Given the description of an element on the screen output the (x, y) to click on. 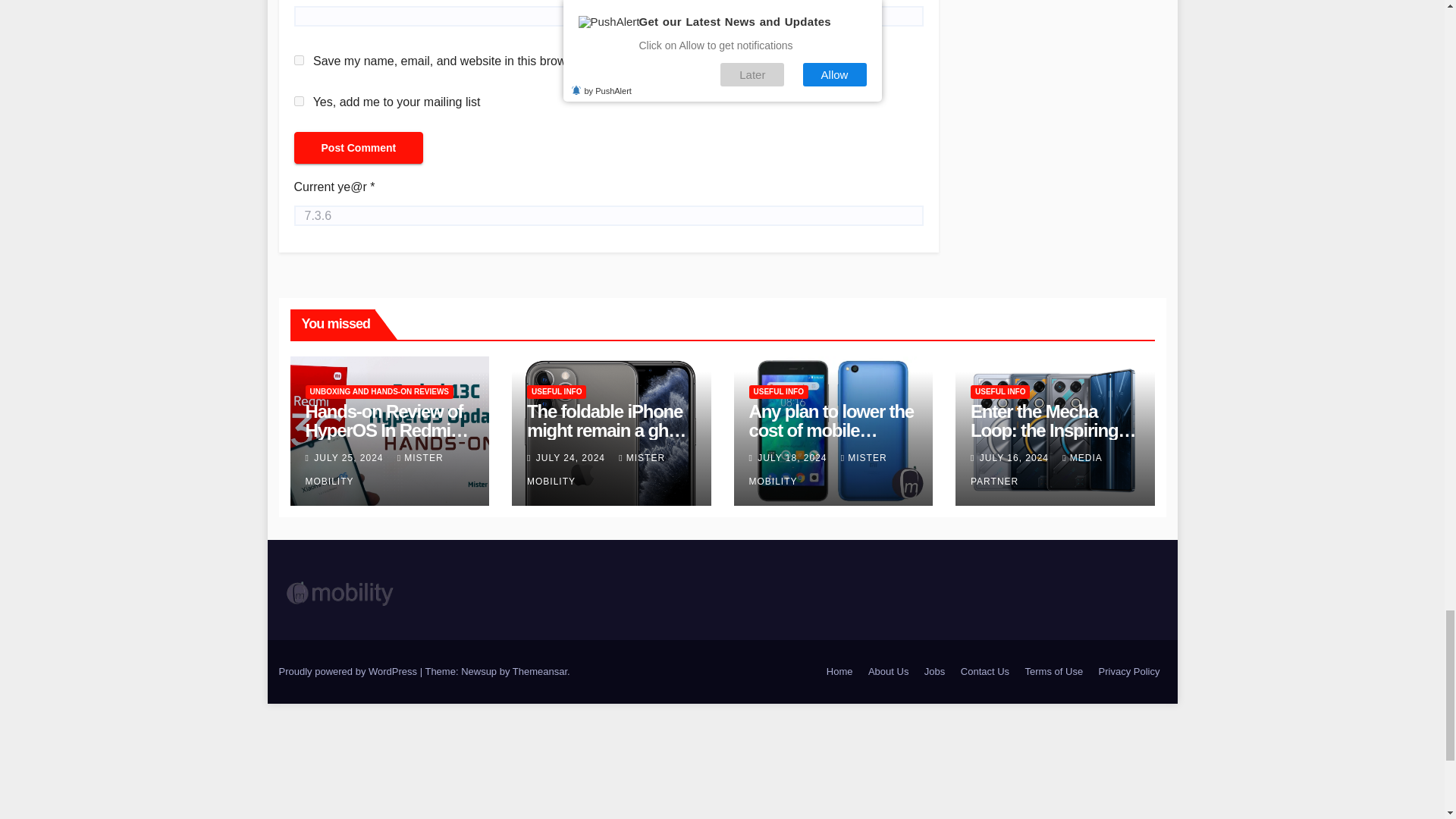
yes (299, 60)
1 (299, 101)
Post Comment (358, 147)
7.3.6 (608, 215)
